Given the description of an element on the screen output the (x, y) to click on. 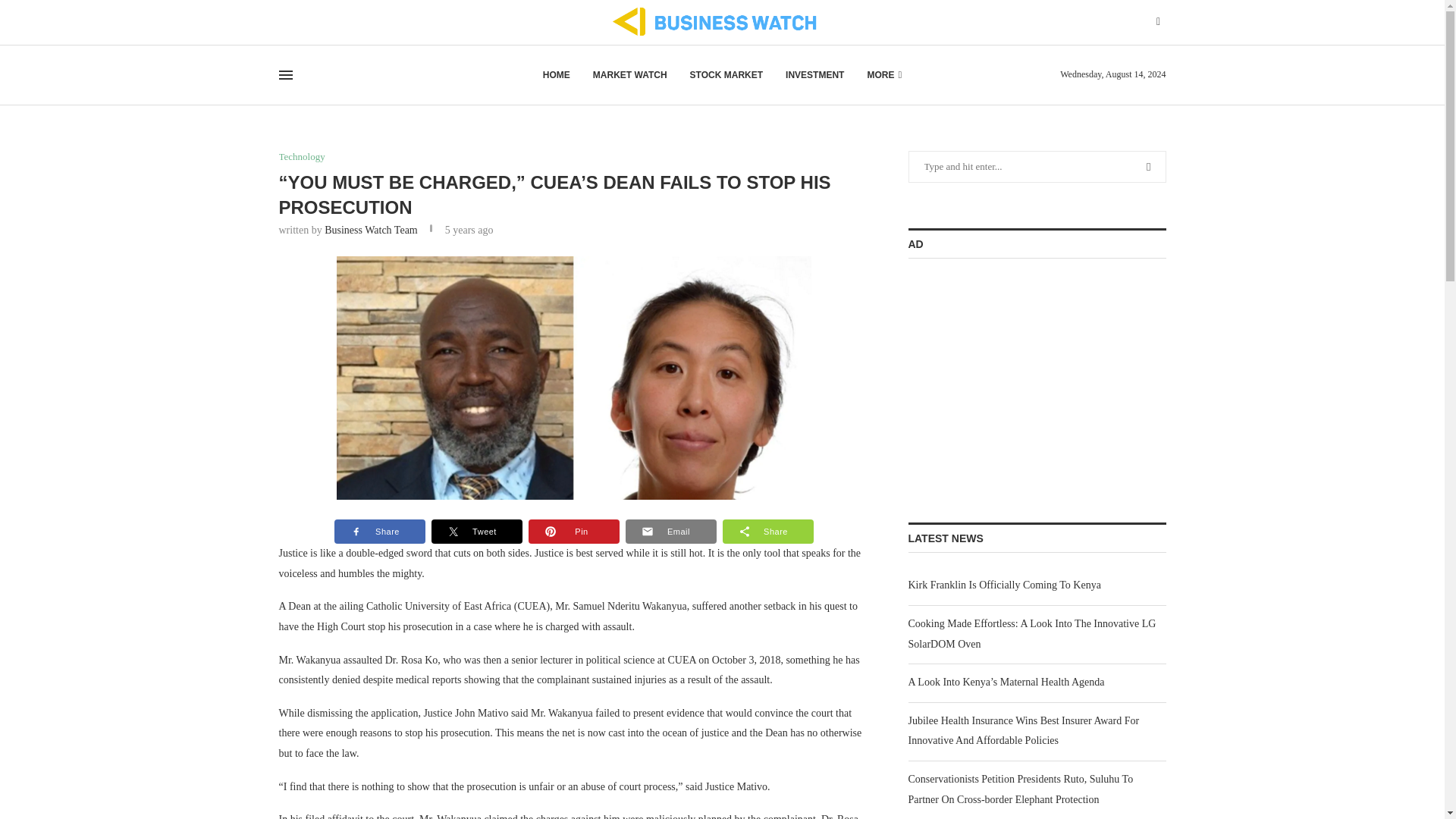
STOCK MARKET (726, 75)
Screen-Shot-2019-07-25-at-3.21.47-PM (573, 377)
INVESTMENT (815, 75)
MARKET WATCH (629, 75)
Advertisement (1021, 375)
